Given the description of an element on the screen output the (x, y) to click on. 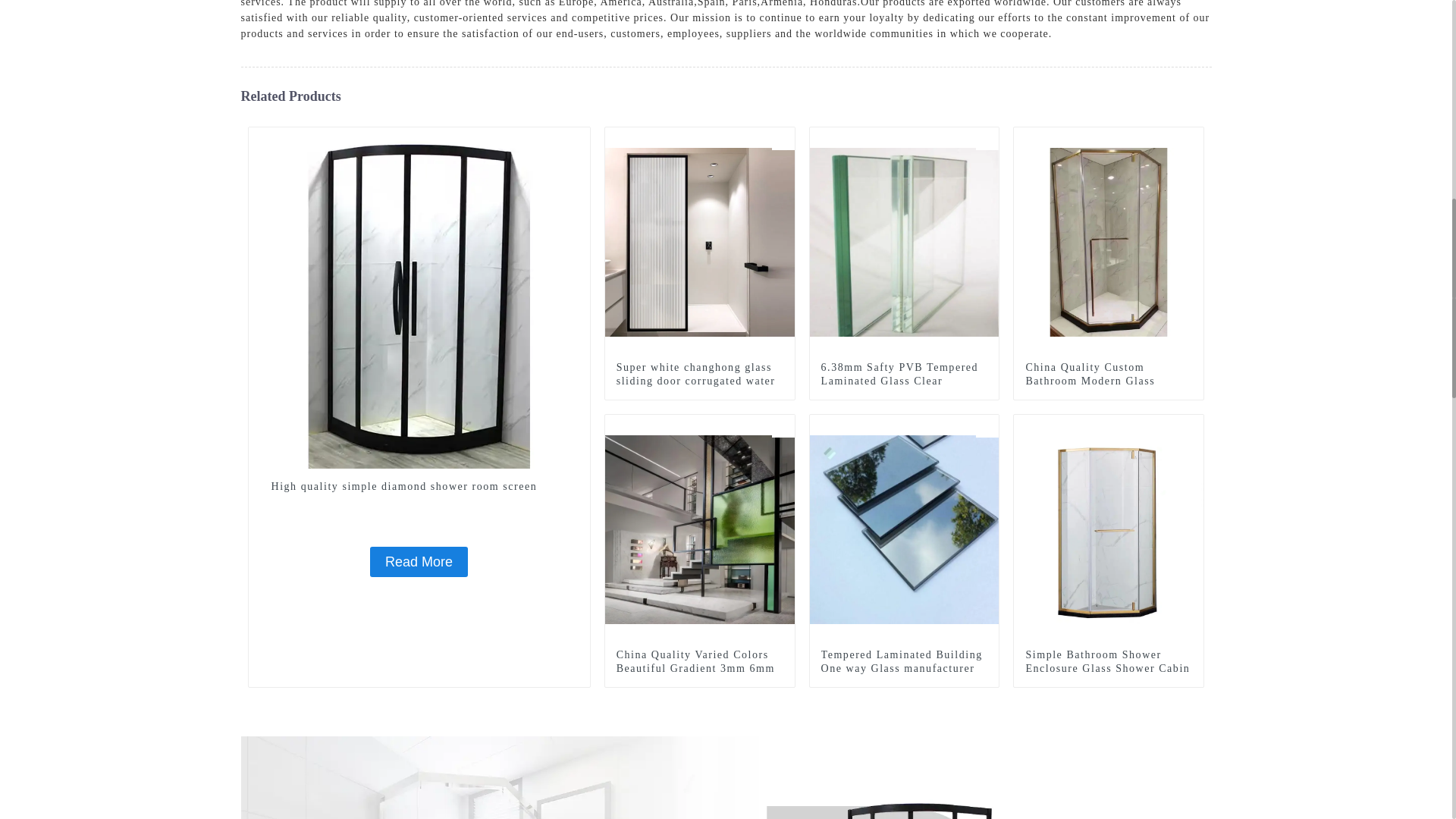
High quality simple diamond shower room screen (418, 486)
High quality simple diamond shower room screen (418, 562)
China Quality Custom Bathroom Modern Glass Shower Room (1108, 381)
Laminated glass 21 (986, 138)
High quality simple diamond shower room screen (578, 138)
Read More (418, 562)
